Given the description of an element on the screen output the (x, y) to click on. 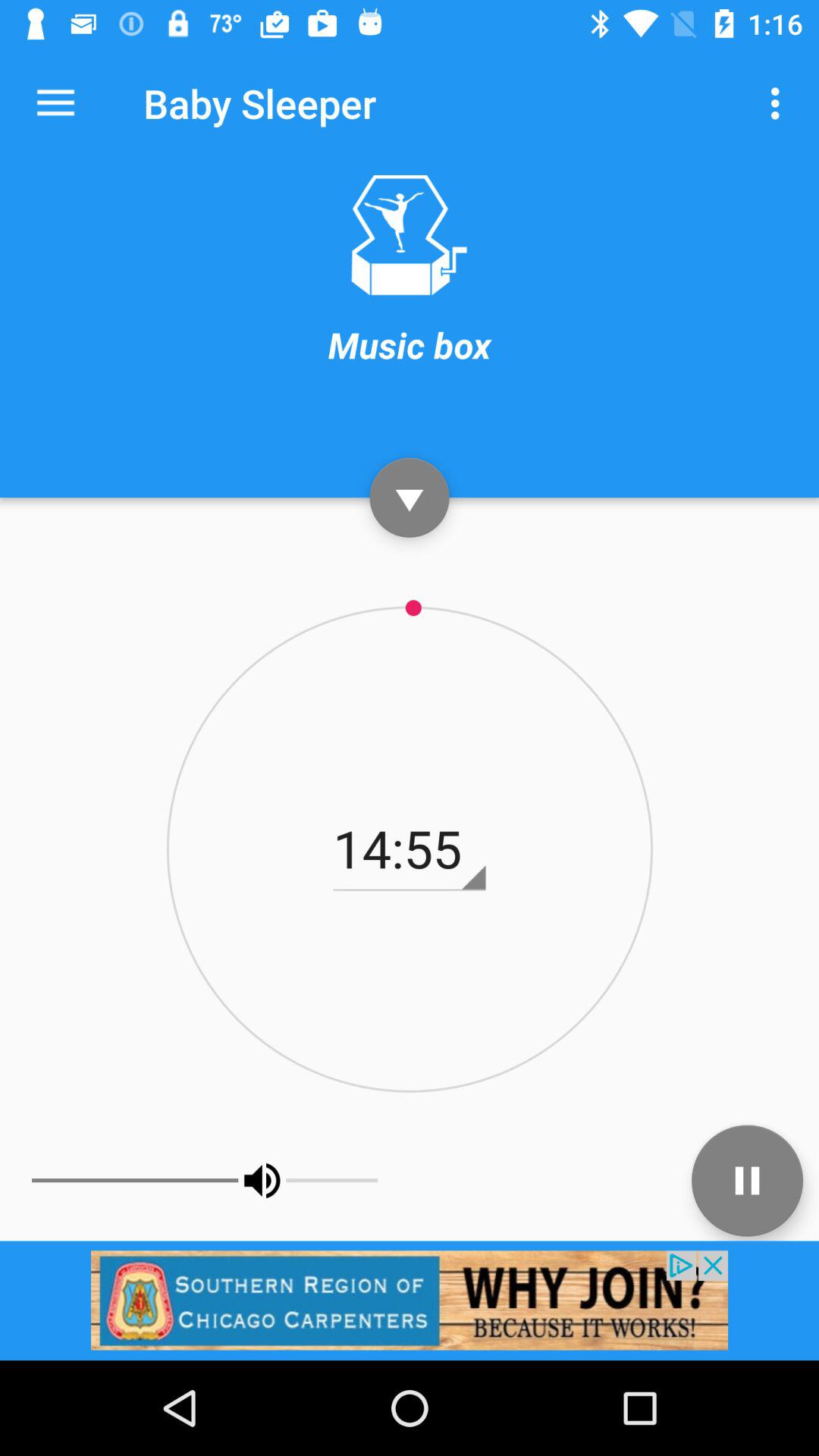
this app music box (409, 235)
